Given the description of an element on the screen output the (x, y) to click on. 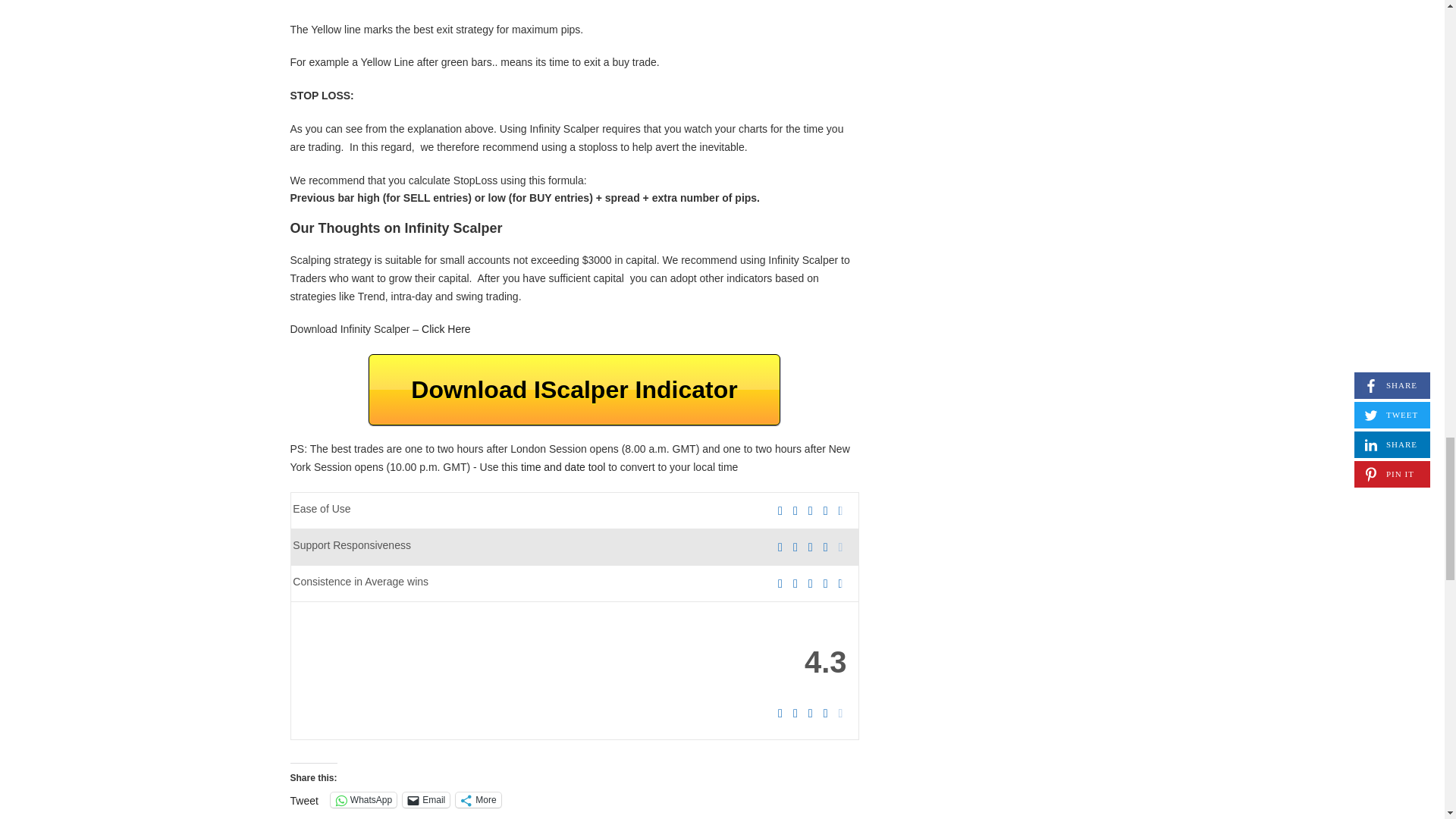
More (477, 799)
time and date tool (563, 467)
Download IScalper Indicator (573, 389)
Click to share on WhatsApp (363, 799)
Click Here (446, 328)
Tweet (303, 798)
WhatsApp (363, 799)
Click to email a link to a friend (426, 799)
Email (426, 799)
